Given the description of an element on the screen output the (x, y) to click on. 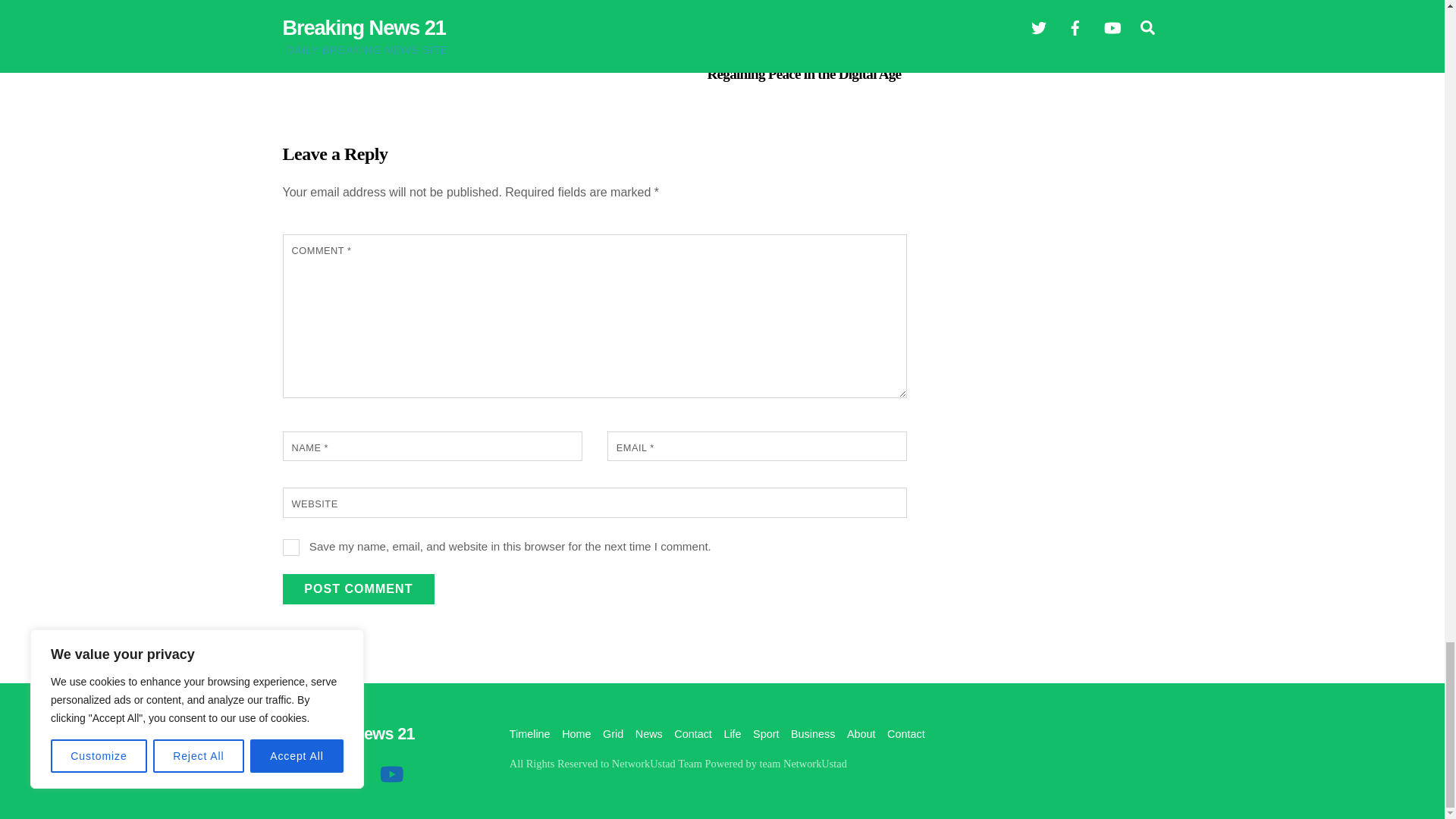
Breaking News 21 (347, 732)
yes (290, 547)
ENTERTAINMENT (320, 8)
MUSIC (378, 8)
Post Comment (357, 589)
